Given the description of an element on the screen output the (x, y) to click on. 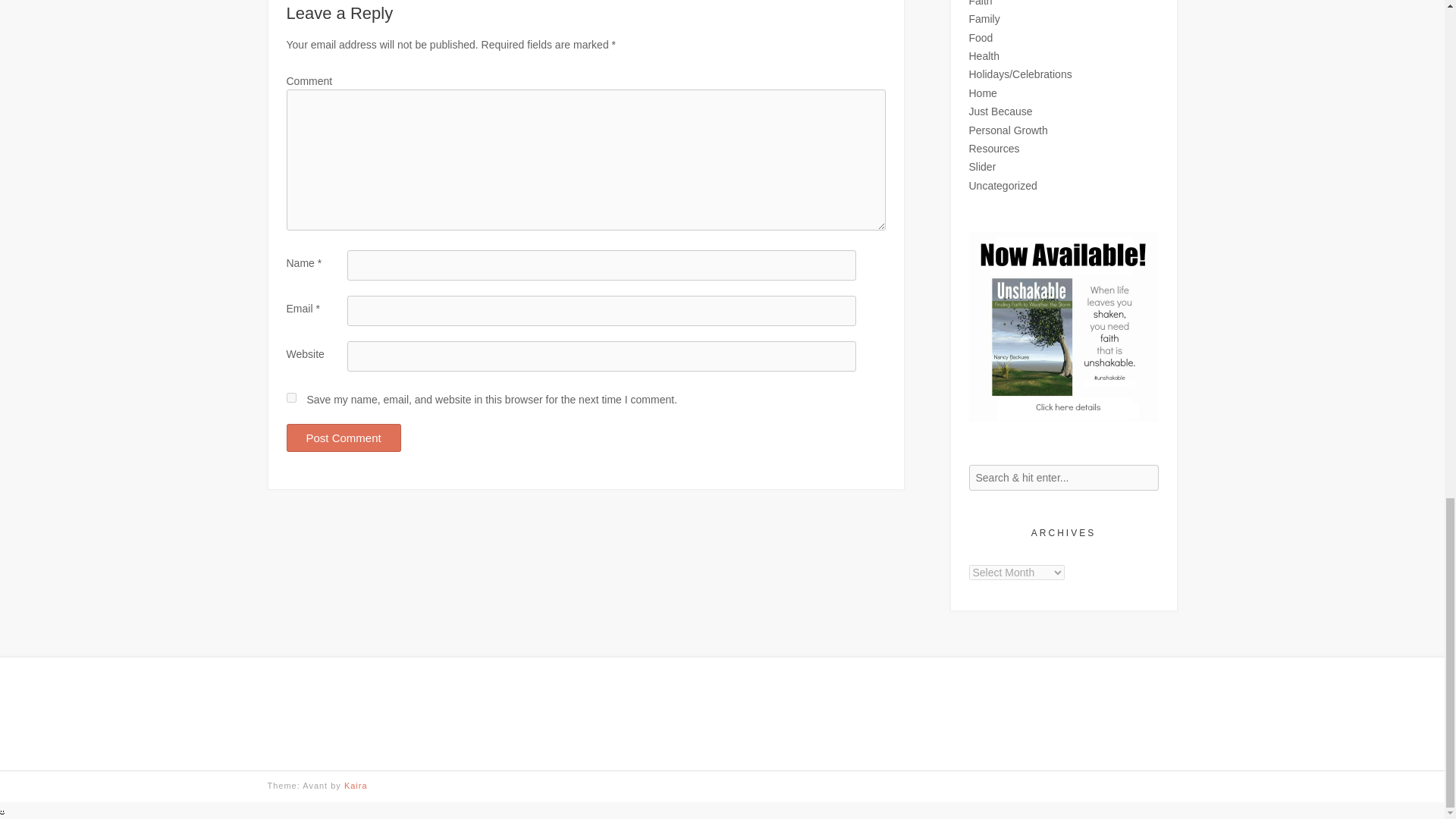
Post Comment (343, 438)
yes (291, 397)
Post Comment (343, 438)
